Given the description of an element on the screen output the (x, y) to click on. 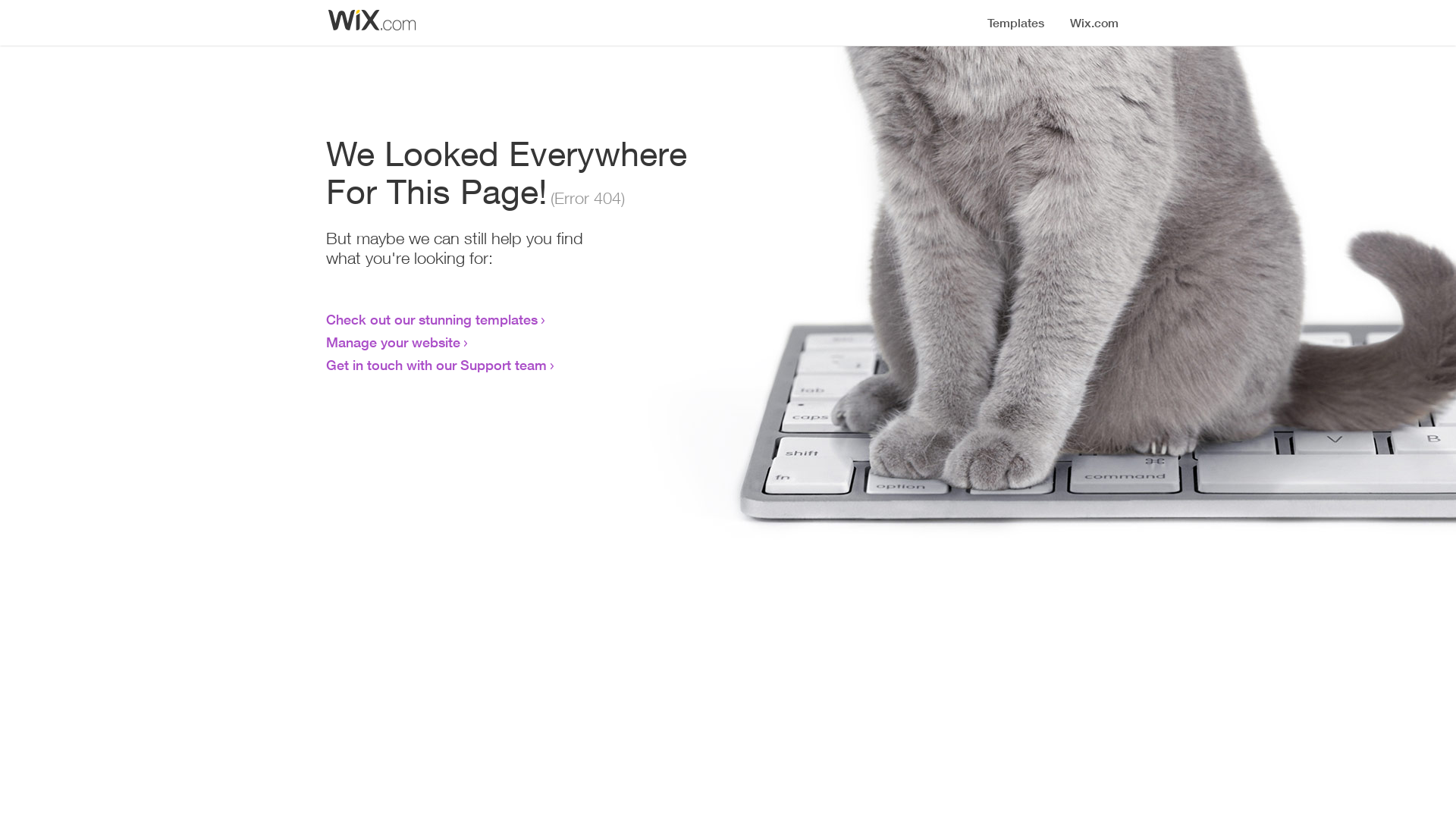
Manage your website Element type: text (393, 341)
Check out our stunning templates Element type: text (431, 318)
Get in touch with our Support team Element type: text (436, 364)
